Given the description of an element on the screen output the (x, y) to click on. 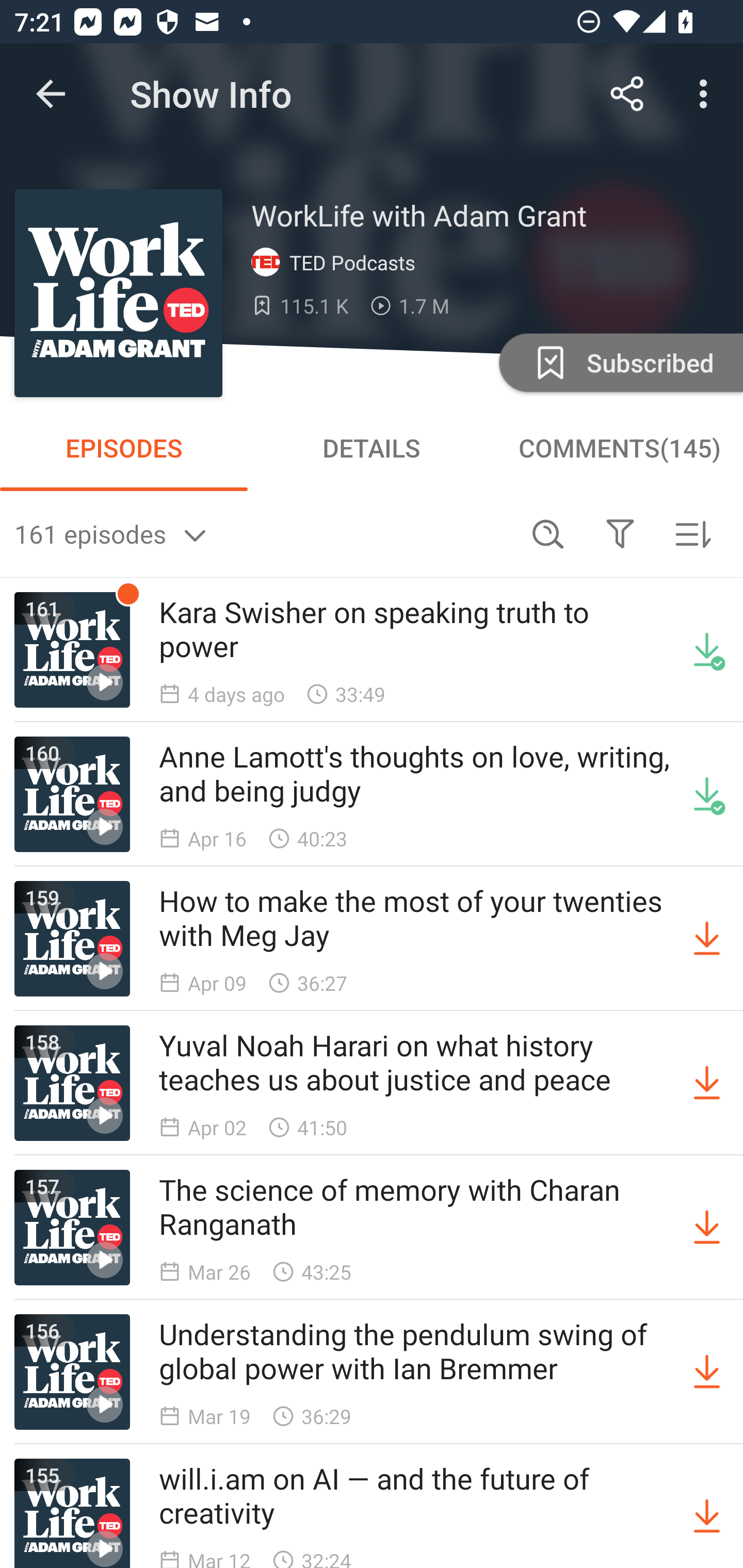
Navigate up (50, 93)
Share (626, 93)
More options (706, 93)
TED Podcasts (337, 262)
Unsubscribe Subscribed (619, 361)
EPISODES (123, 447)
DETAILS (371, 447)
COMMENTS(145) (619, 447)
161 episodes  (262, 533)
 Search (547, 533)
 (619, 533)
 Sorted by newest first (692, 533)
Downloaded (706, 649)
Downloaded (706, 793)
Download (706, 939)
Download (706, 1083)
Download (706, 1227)
Download (706, 1371)
Download (706, 1513)
